Given the description of an element on the screen output the (x, y) to click on. 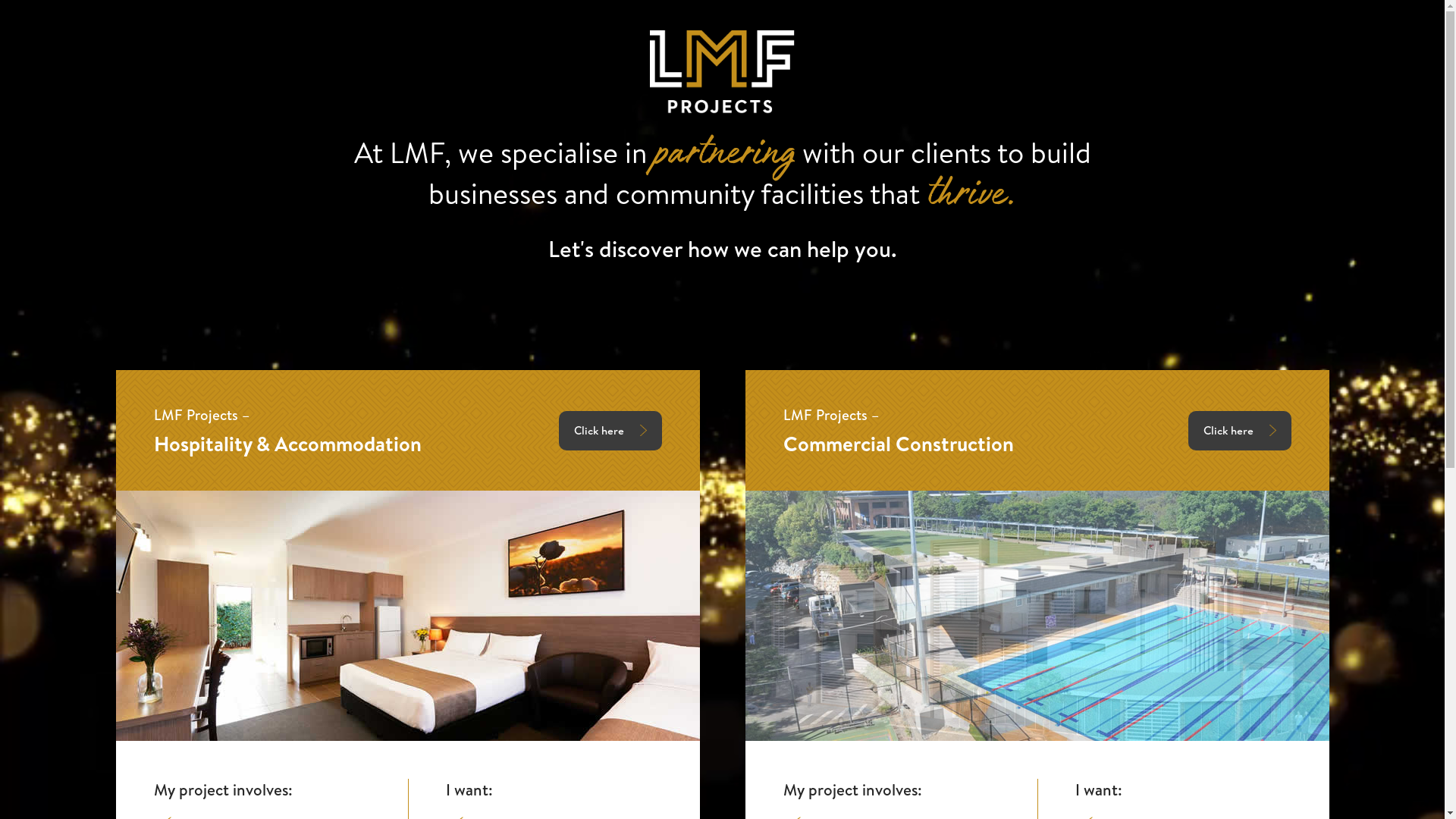
Click here Element type: text (609, 430)
Click here Element type: text (1238, 430)
